Given the description of an element on the screen output the (x, y) to click on. 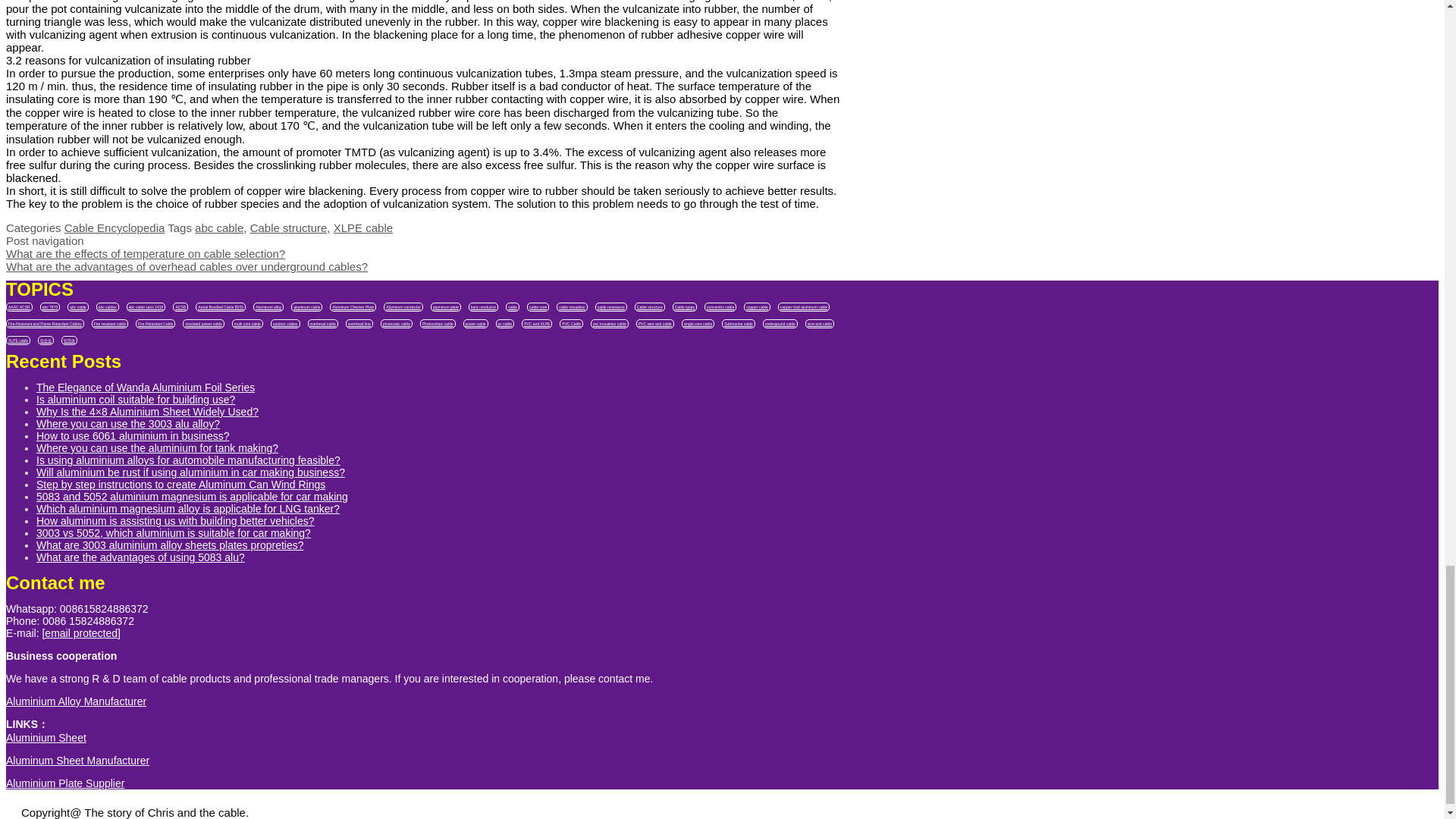
cable core (537, 307)
Aluminum Checker Plate (352, 307)
Next (186, 266)
Previous (145, 253)
abc cable (219, 227)
AAAC ACSR (18, 307)
Aluminum conductor (403, 307)
abc cable (76, 307)
Aluminum alloy (268, 307)
concentric cable (720, 307)
aluminum plate (445, 307)
ACSR (180, 307)
abc cables (107, 307)
Aerial Bundled Cable B231 (220, 307)
